Given the description of an element on the screen output the (x, y) to click on. 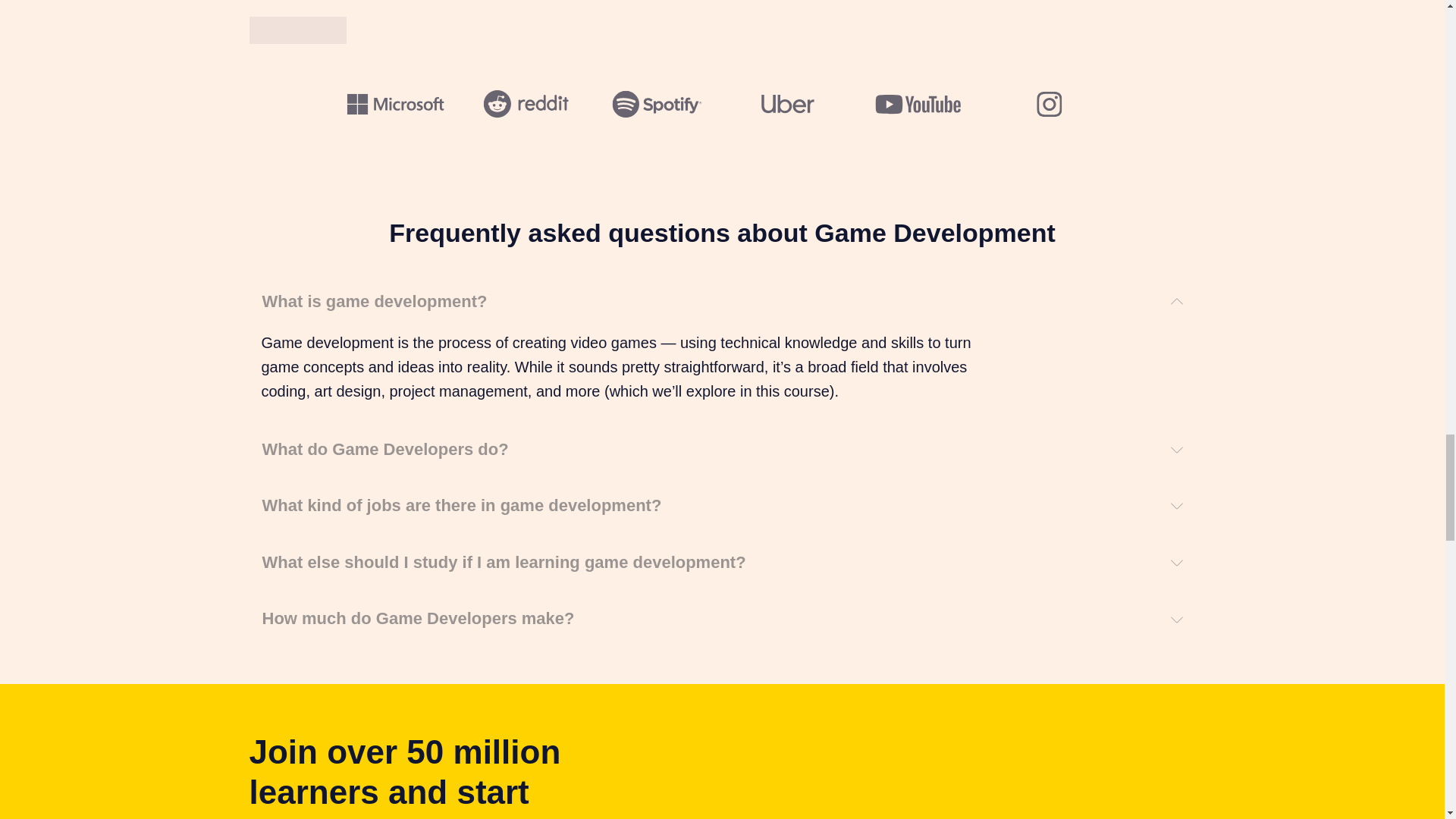
What else should I study if I am learning game development? (721, 562)
How much do Game Developers make? (721, 618)
What is game development? (721, 301)
What do Game Developers do? (721, 449)
What kind of jobs are there in game development? (721, 505)
